Given the description of an element on the screen output the (x, y) to click on. 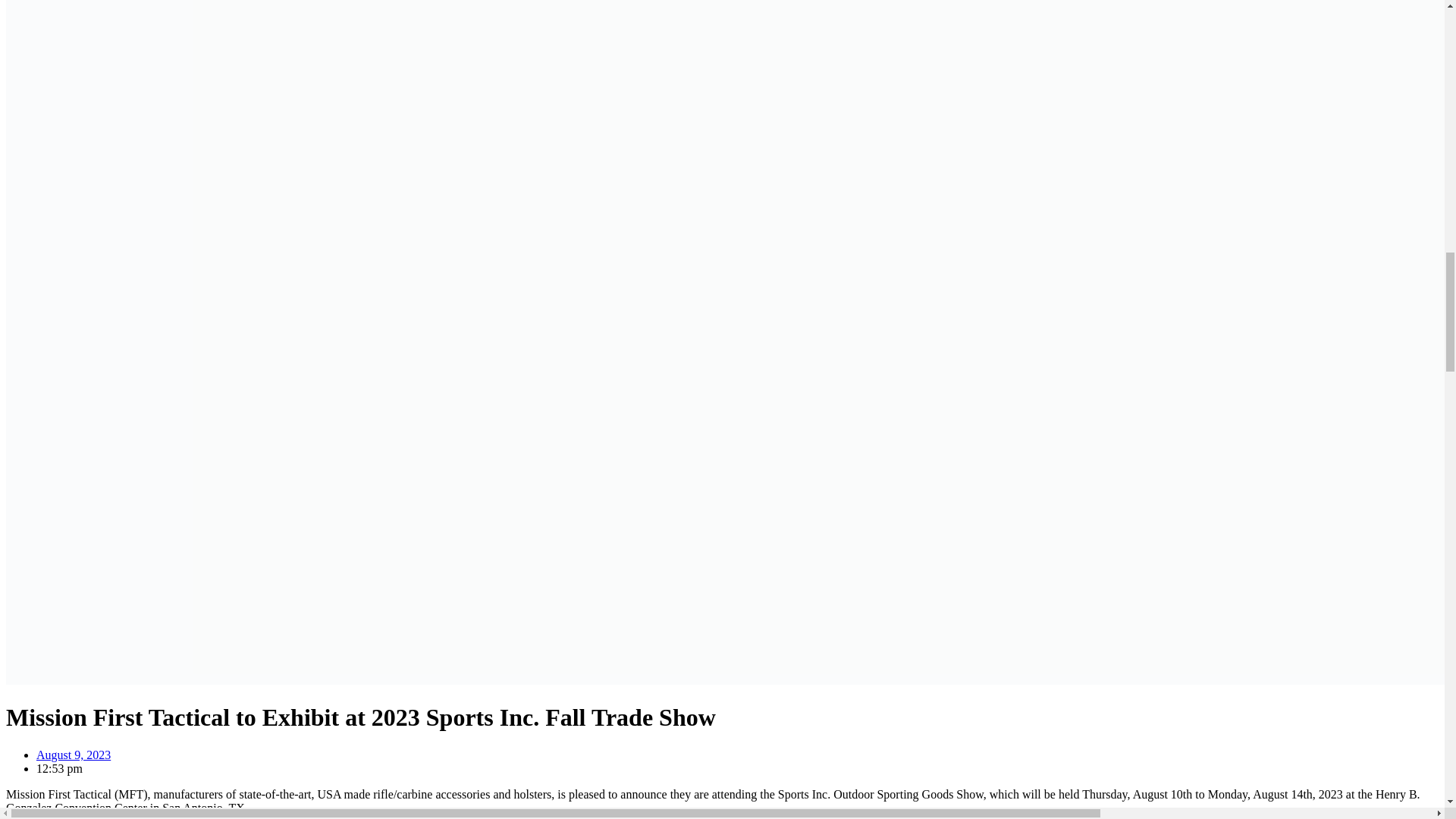
August 9, 2023 (73, 754)
